Given the description of an element on the screen output the (x, y) to click on. 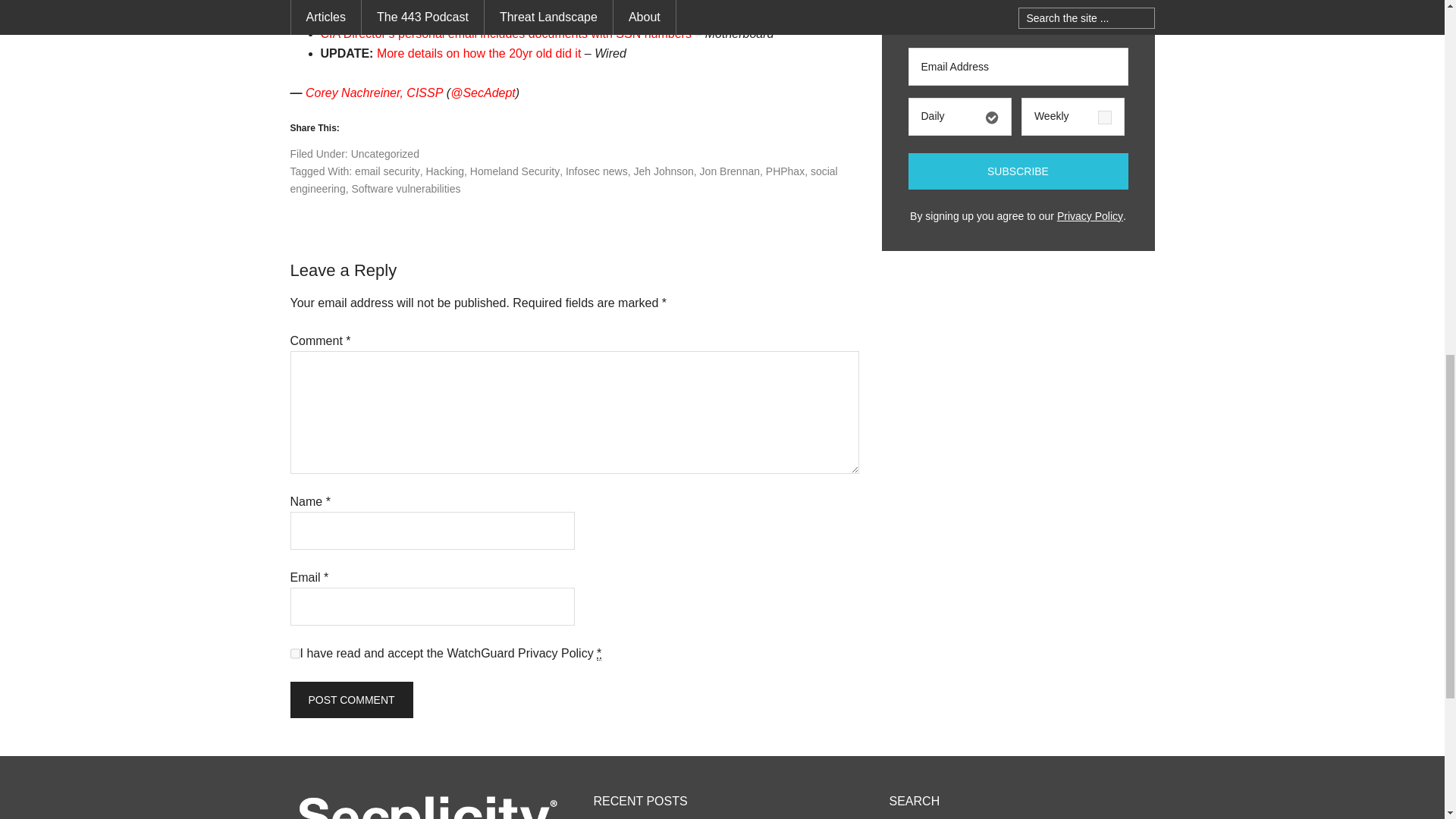
You need to accept this checkbox (598, 653)
Jon Brennan (730, 171)
Corey Nachreiner, CISSP (373, 92)
Homeland Security (514, 171)
Uncategorized (384, 153)
Post Comment (350, 699)
Privacy Policy (556, 653)
Subscribe (1018, 171)
Software vulnerabilities (405, 188)
social engineering (563, 179)
PHPhax (785, 171)
Post Comment (350, 699)
email security (387, 171)
Jeh Johnson (663, 171)
More details on how the 20yr old did it (478, 52)
